Given the description of an element on the screen output the (x, y) to click on. 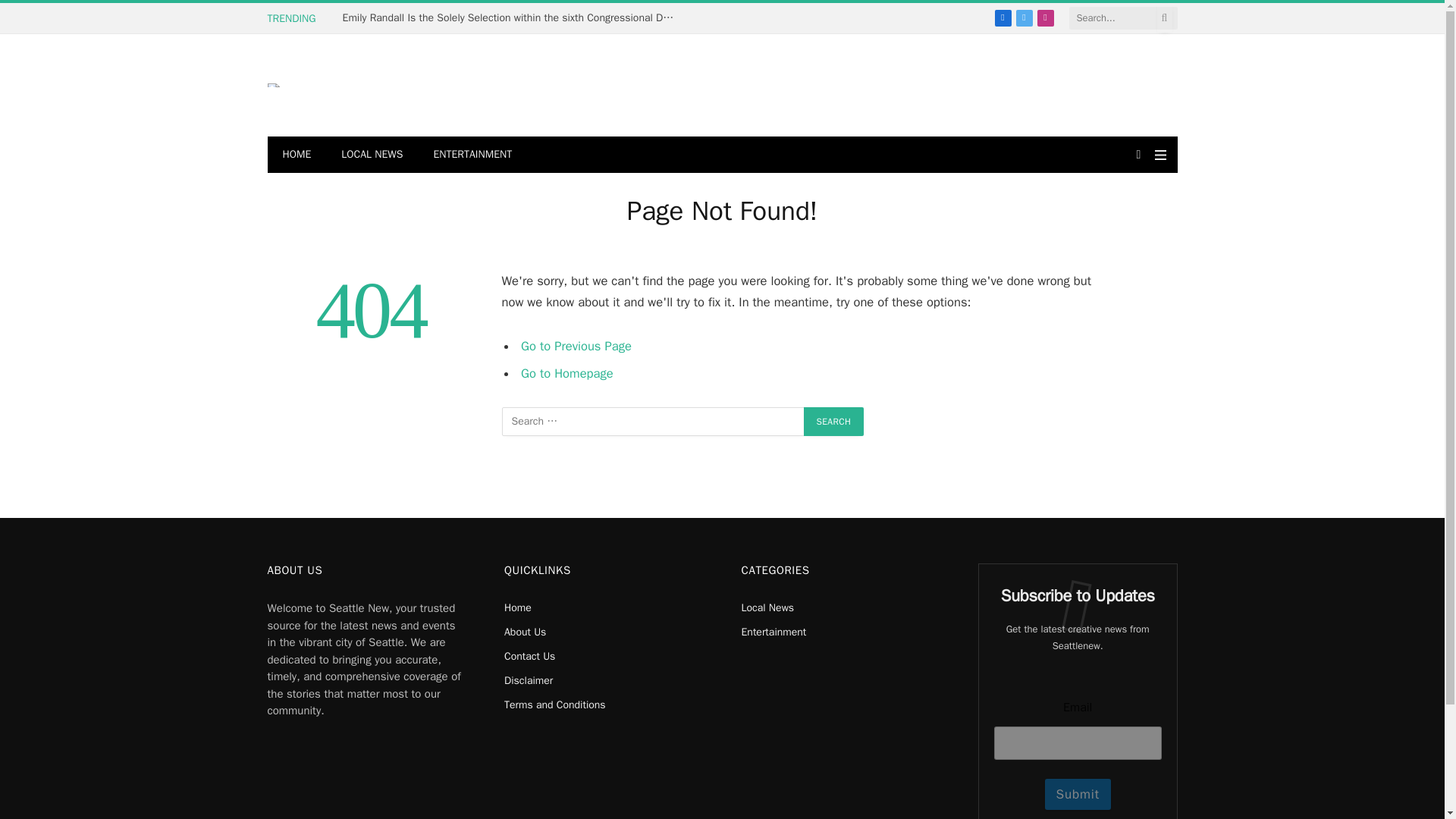
Search (833, 421)
Entertainment (773, 631)
ENTERTAINMENT (472, 154)
Facebook (1002, 17)
Go to Previous Page (576, 345)
Home (517, 607)
Switch to Dark Design - easier on eyes. (1138, 154)
Search (833, 421)
Submit (1077, 793)
Local News (767, 607)
LOCAL NEWS (371, 154)
Go to Homepage (566, 373)
Instagram (1045, 17)
Search (833, 421)
Terms and Conditions (554, 704)
